Given the description of an element on the screen output the (x, y) to click on. 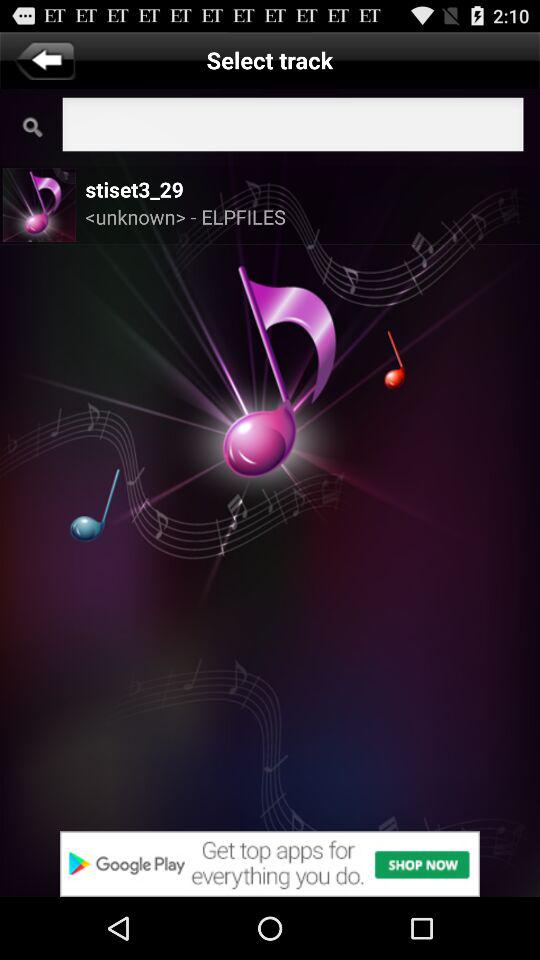
go back to song results (44, 59)
